Given the description of an element on the screen output the (x, y) to click on. 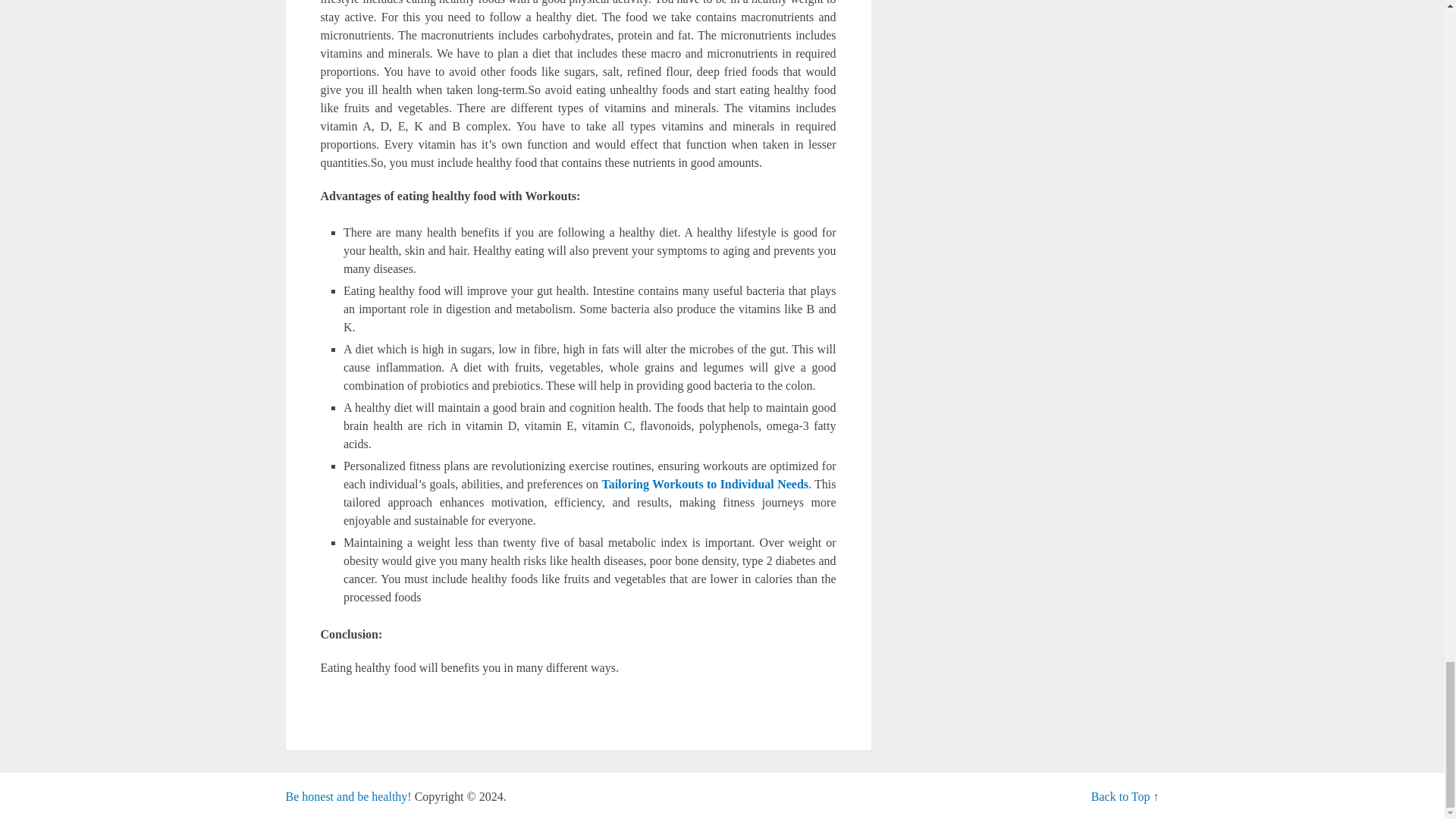
Tailoring Workouts to Individual Needs (704, 483)
Dive into the depths of facts (347, 796)
